Given the description of an element on the screen output the (x, y) to click on. 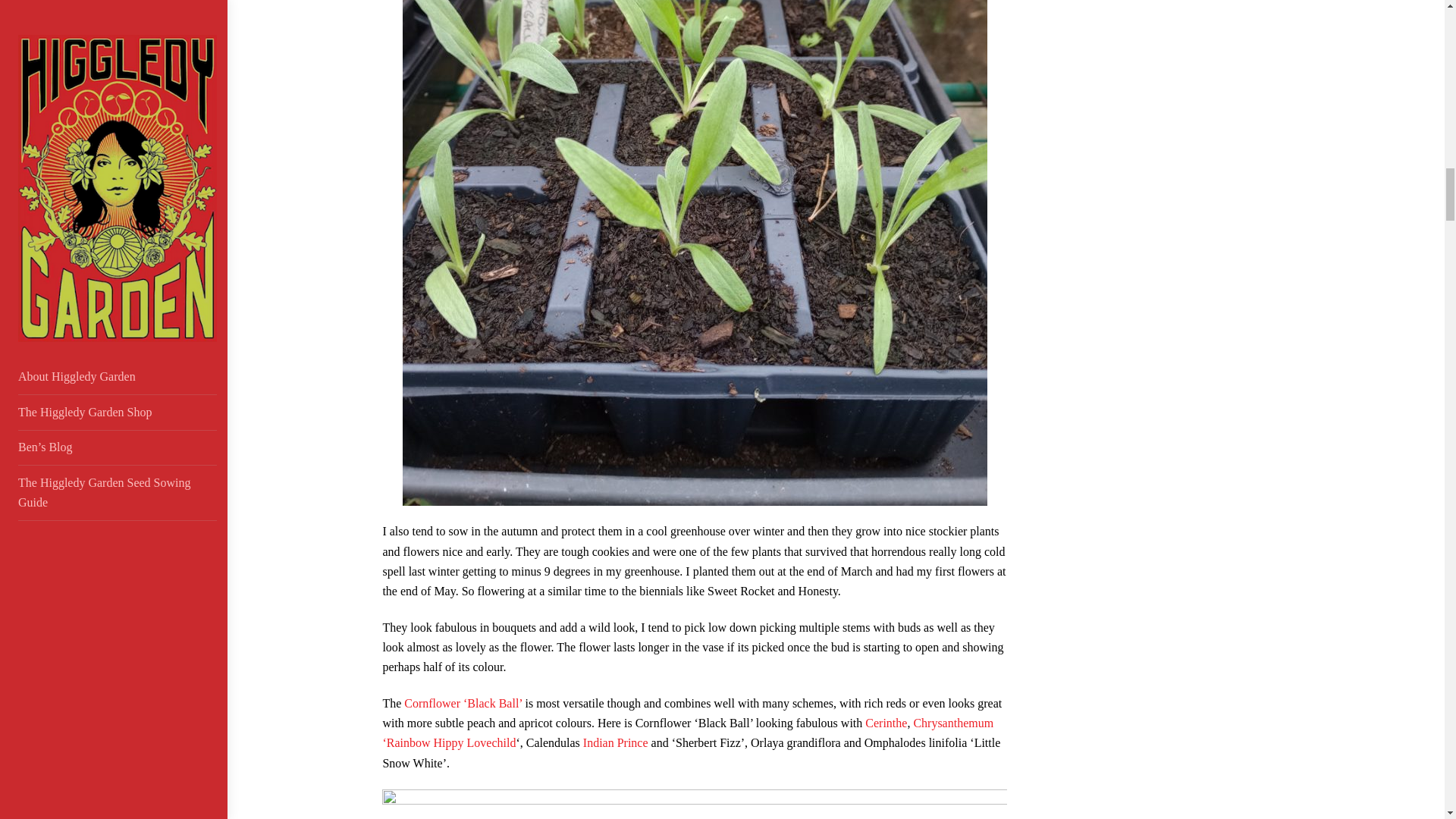
Indian Prince (613, 742)
Cerinthe (885, 722)
